Given the description of an element on the screen output the (x, y) to click on. 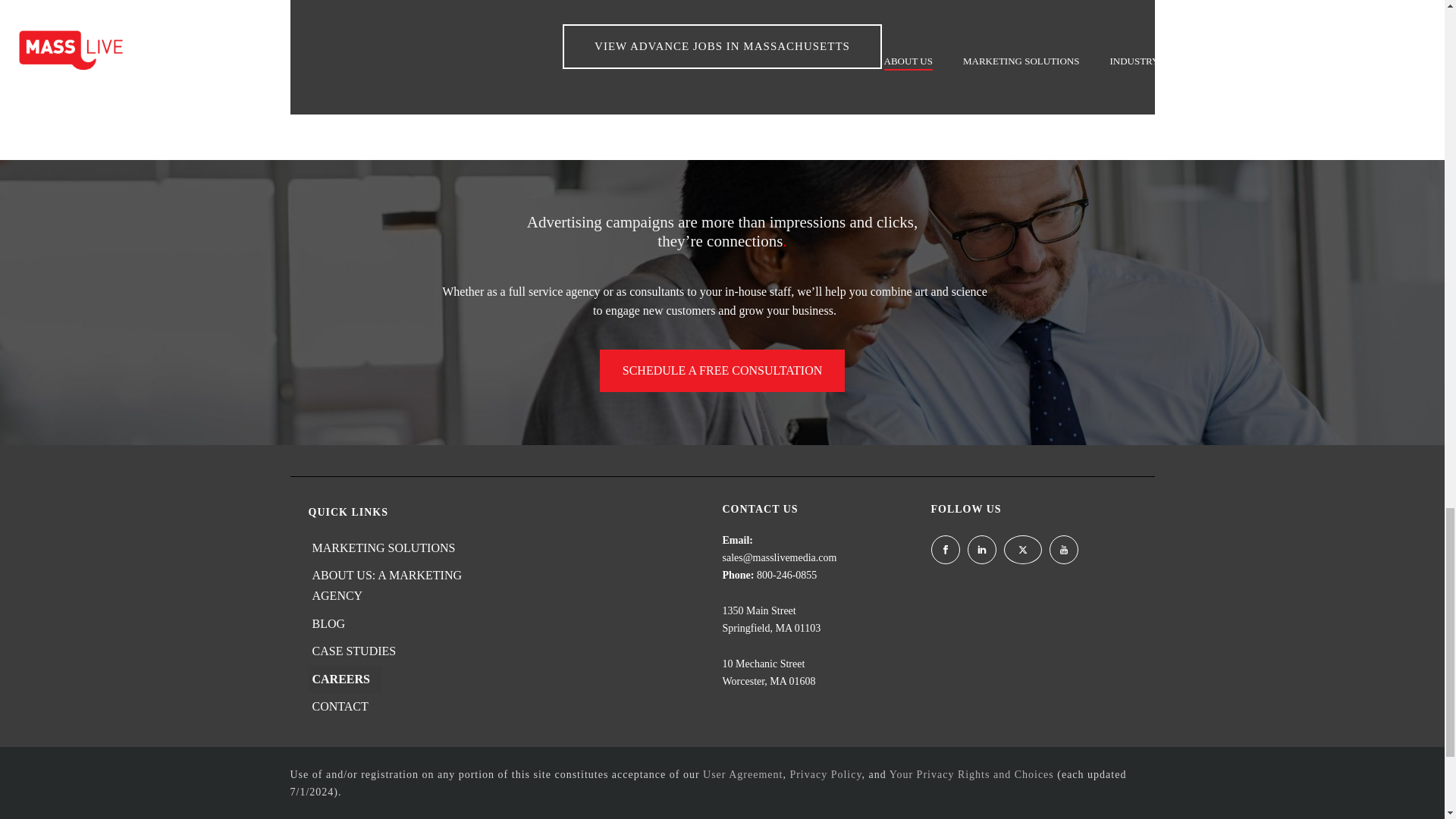
Follow Us on youtube (1063, 549)
Follow Us on linkedin (981, 549)
Follow Us on twitter (1023, 549)
Follow Us on facebook (945, 549)
